Given the description of an element on the screen output the (x, y) to click on. 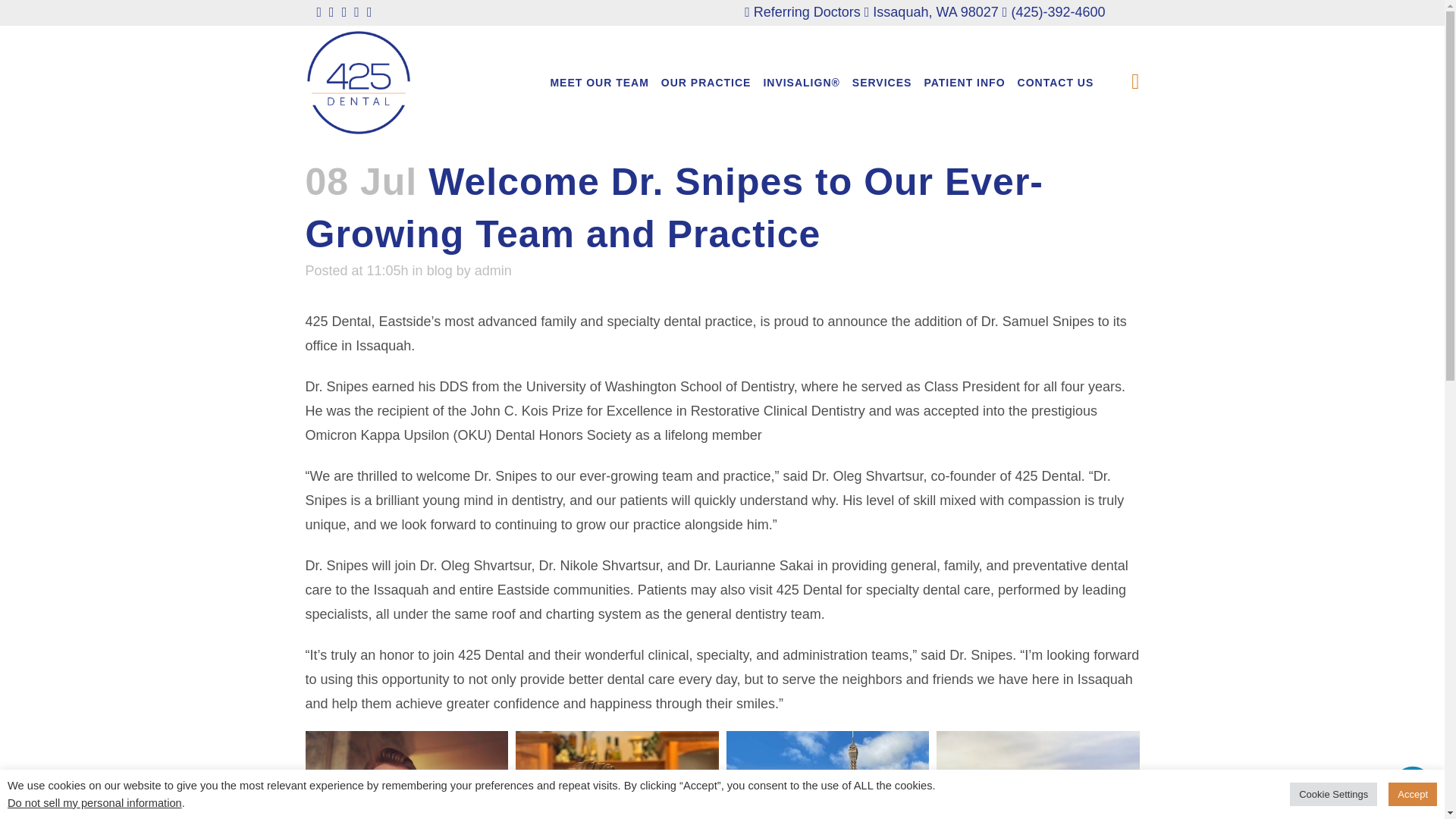
Issaquah, WA 98027 (931, 11)
Referring Doctors (802, 11)
MEET OUR TEAM (598, 82)
OUR PRACTICE (706, 82)
